Given the description of an element on the screen output the (x, y) to click on. 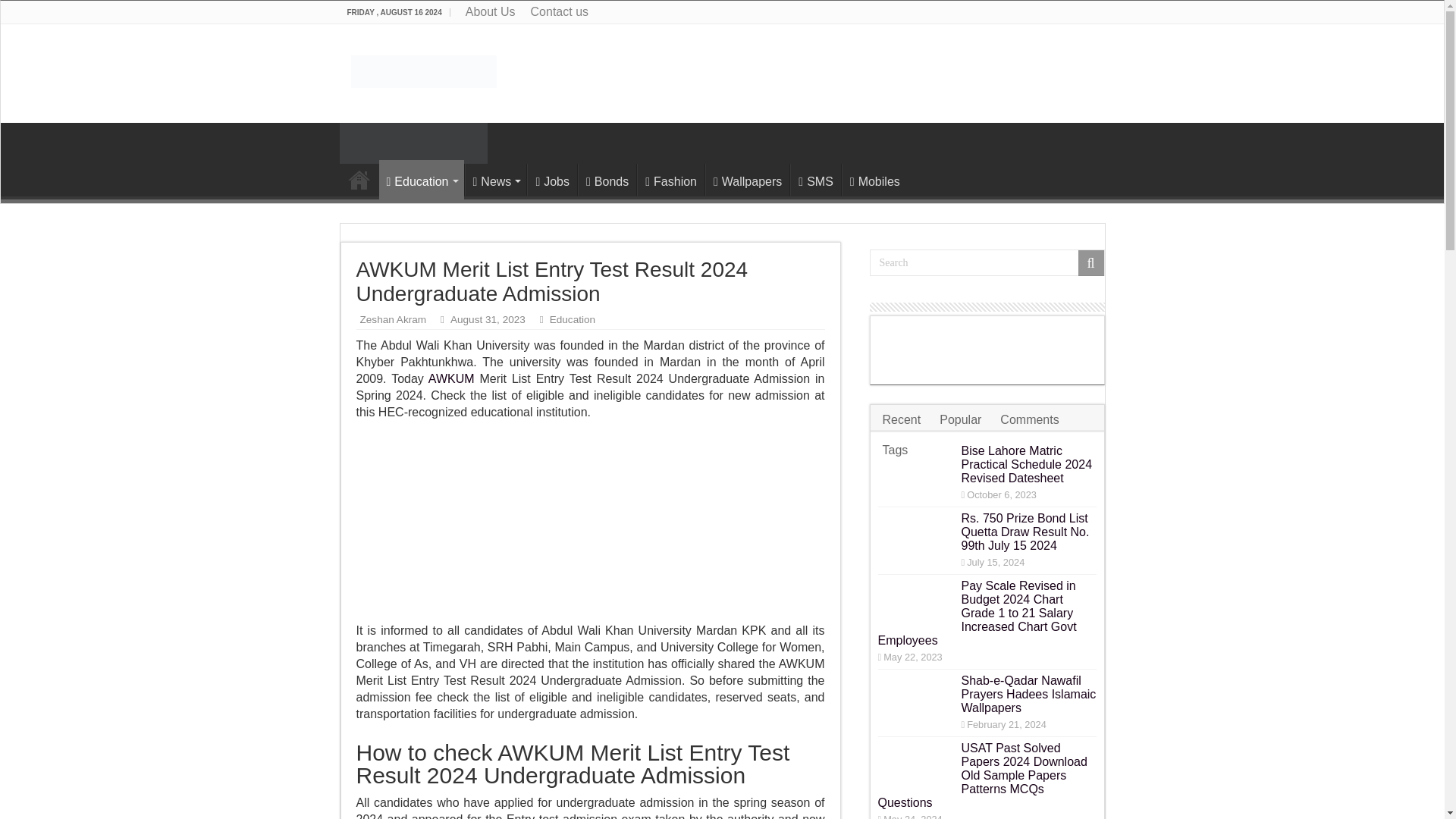
Education (572, 319)
Education (421, 179)
Fashion (670, 179)
Bonds (607, 179)
Mobiles (874, 179)
SMS (815, 179)
Jobs (551, 179)
AWKUM (451, 378)
Wallpapers (746, 179)
Contact us (558, 11)
